Given the description of an element on the screen output the (x, y) to click on. 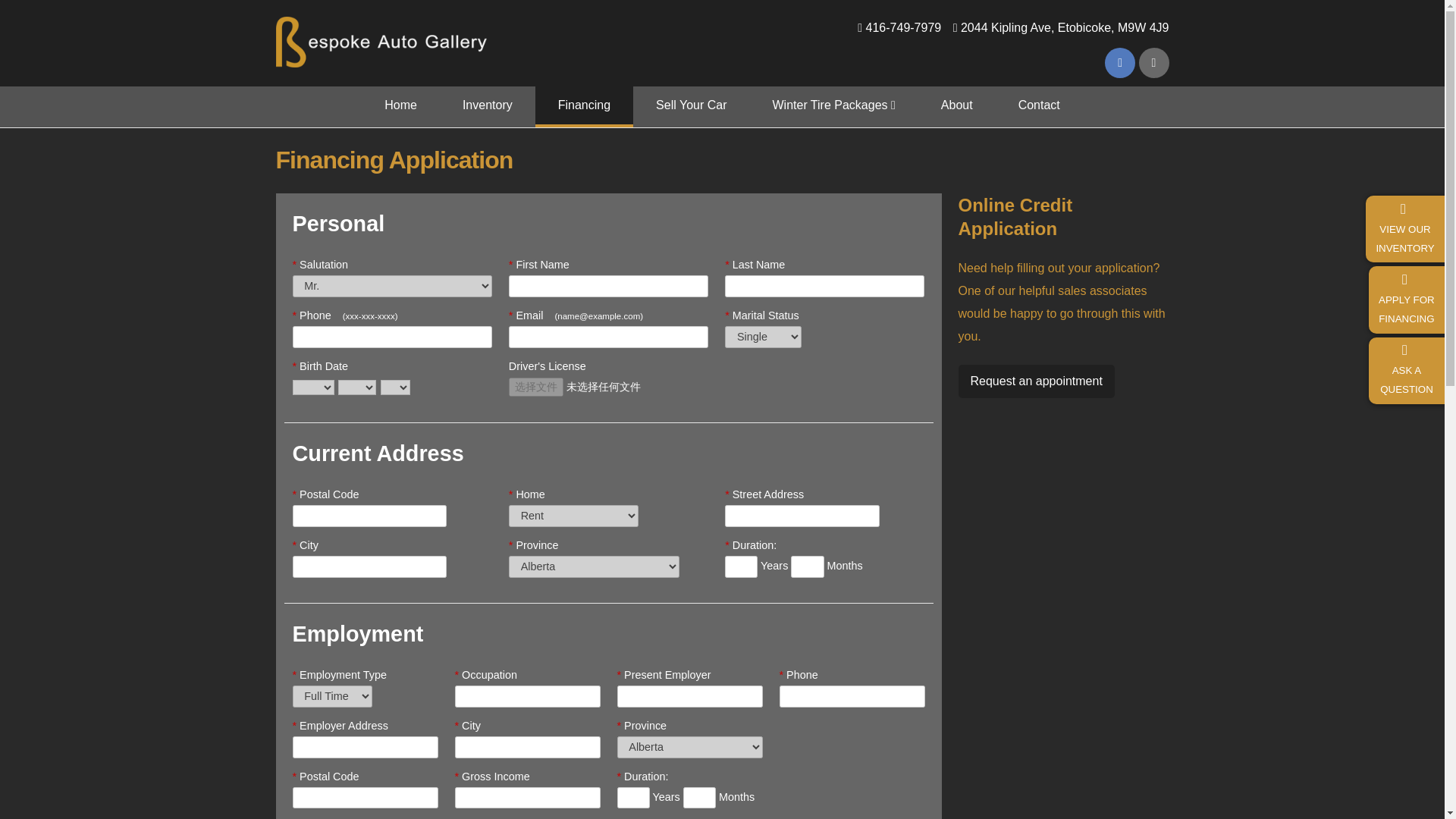
Skip to Menu (720, 5)
Sell Your Car (1064, 27)
Request an appointment (691, 106)
Instagram Icon (1036, 381)
About (1153, 62)
Contact (956, 106)
Financing (1039, 106)
Facebook Icon (584, 106)
Bespoke Auto Gallery (1120, 62)
416-749-7979 (833, 106)
Home (381, 71)
Inventory (904, 27)
